Given the description of an element on the screen output the (x, y) to click on. 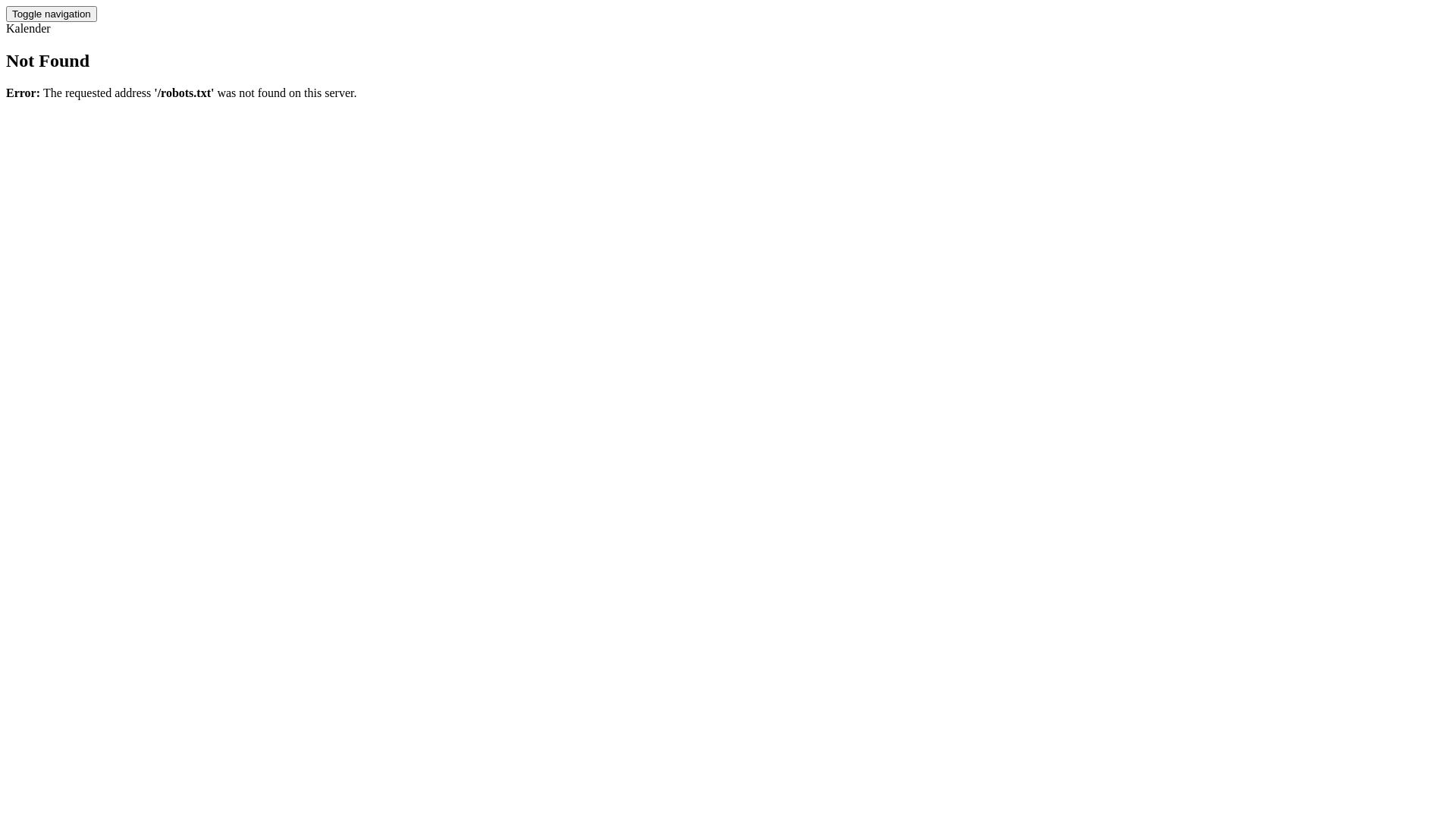
Toggle navigation Element type: text (51, 13)
